Given the description of an element on the screen output the (x, y) to click on. 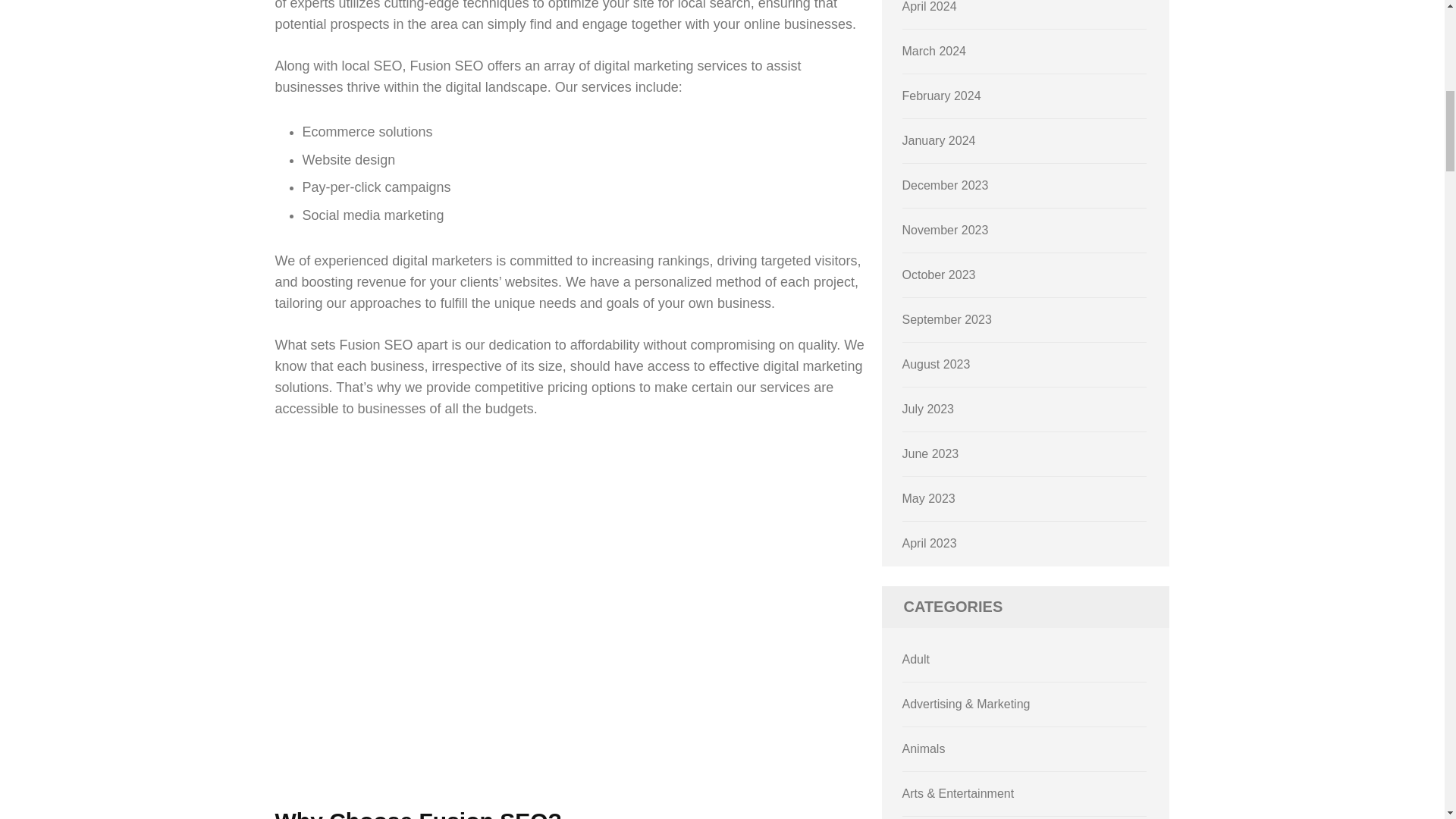
February 2024 (941, 95)
December 2023 (945, 185)
September 2023 (946, 318)
August 2023 (936, 364)
April 2023 (929, 543)
November 2023 (945, 229)
Animals (923, 748)
July 2023 (928, 408)
October 2023 (938, 274)
May 2023 (928, 498)
March 2024 (934, 51)
January 2024 (938, 140)
Adult (916, 658)
June 2023 (930, 453)
April 2024 (929, 6)
